Given the description of an element on the screen output the (x, y) to click on. 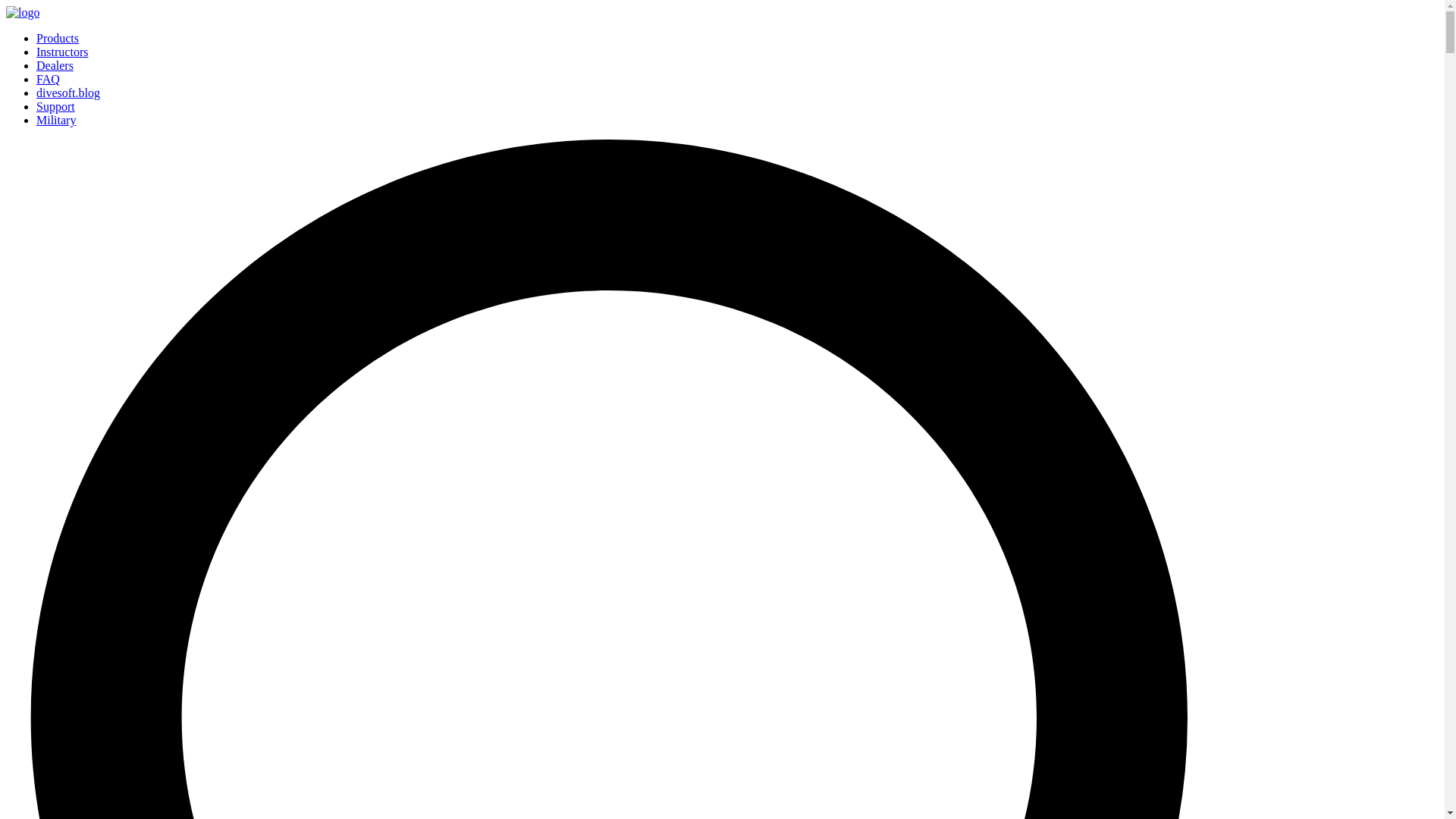
Military (55, 119)
FAQ (47, 78)
Support (55, 106)
Dealers (55, 65)
Products (57, 38)
Instructors (61, 51)
divesoft.blog (68, 92)
